Given the description of an element on the screen output the (x, y) to click on. 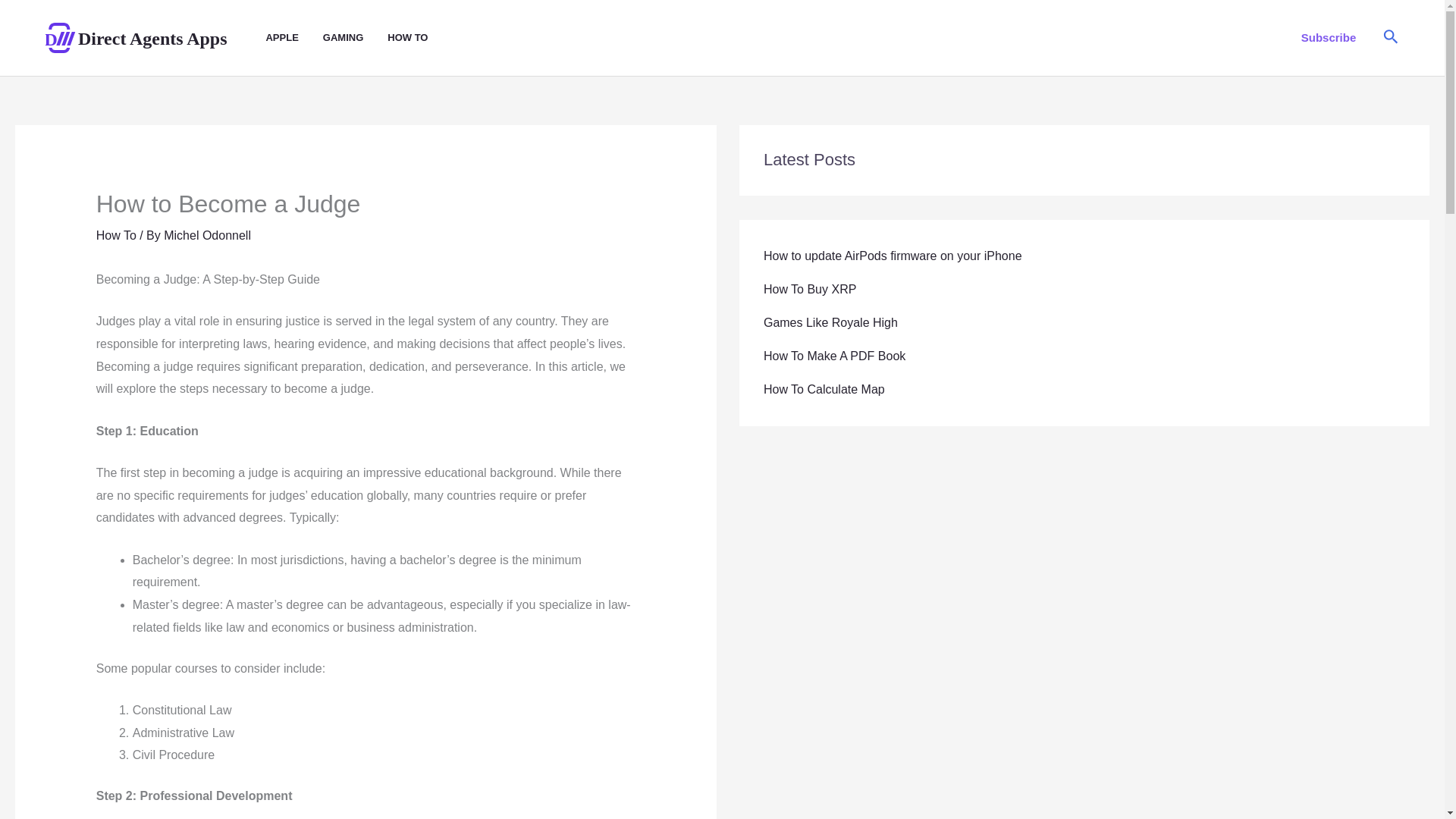
APPLE (292, 38)
How To Buy XRP (809, 288)
Games Like Royale High (830, 322)
GAMING (355, 38)
How To Make A PDF Book (833, 355)
Michel Odonnell (206, 235)
View all posts by Michel Odonnell (206, 235)
How to update AirPods firmware on your iPhone (892, 255)
How To (116, 235)
HOW TO (419, 38)
How To Calculate Map (823, 389)
Search (1391, 38)
Subscribe (1328, 37)
